Given the description of an element on the screen output the (x, y) to click on. 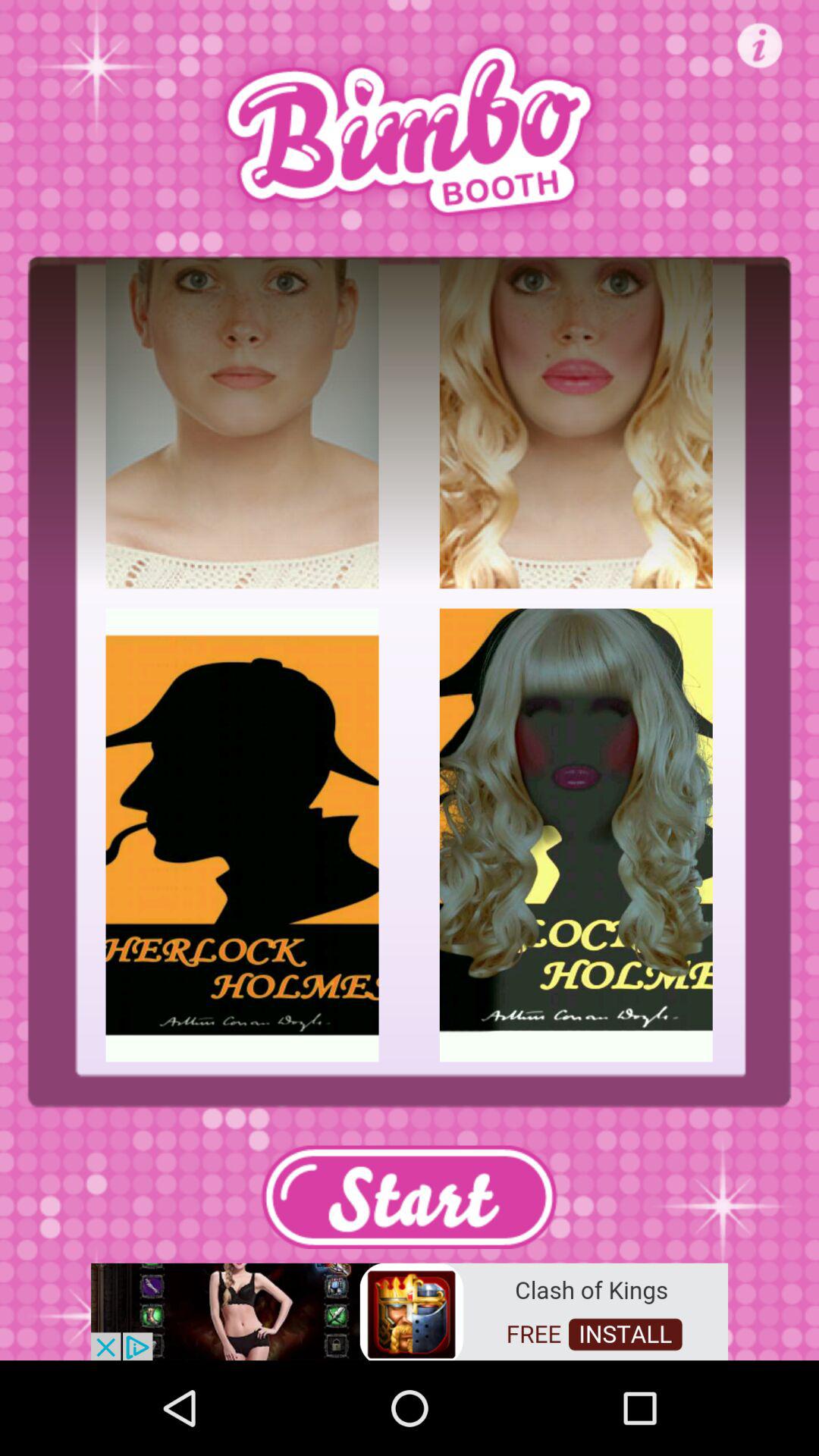
start the app (408, 1196)
